Given the description of an element on the screen output the (x, y) to click on. 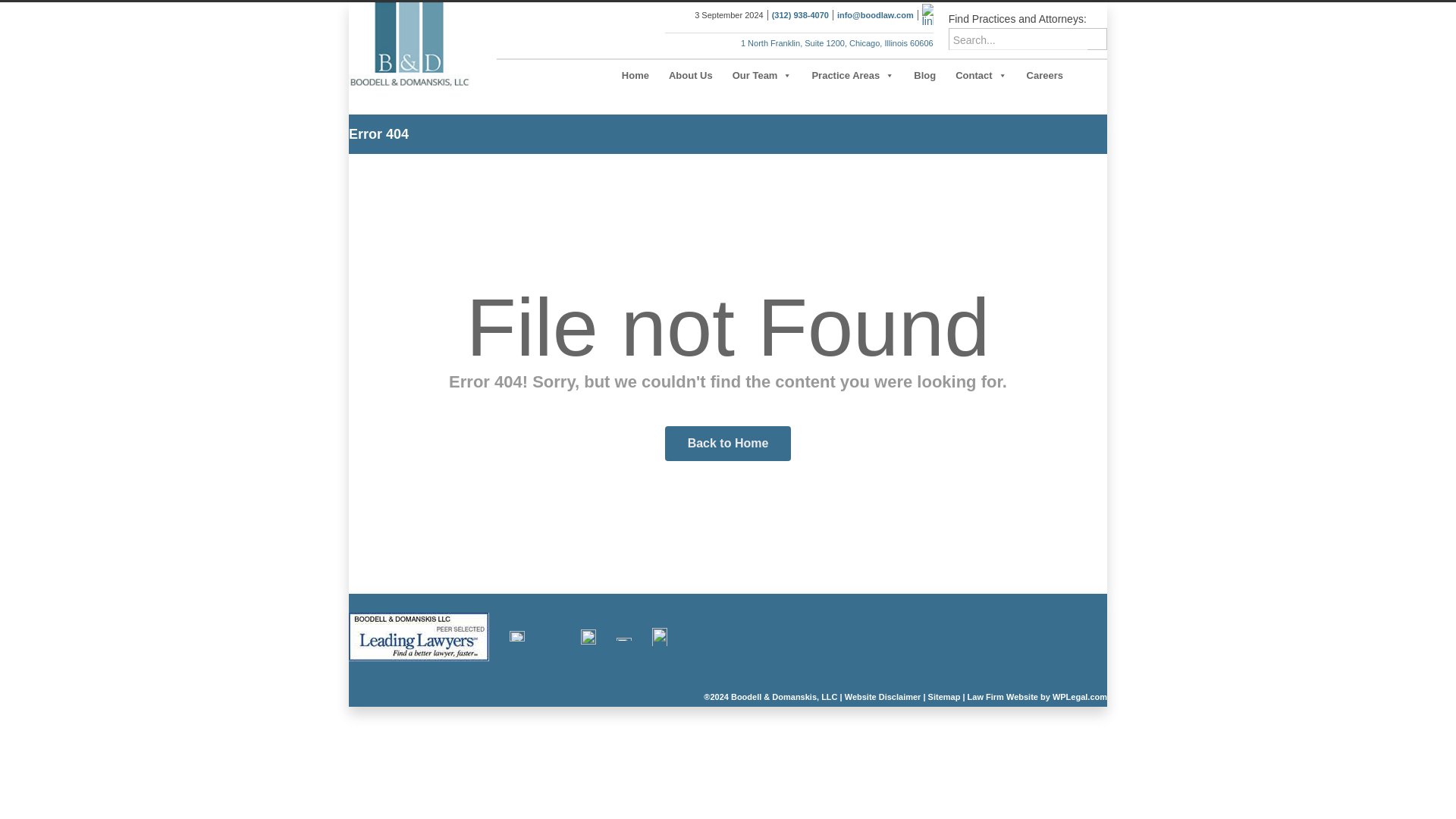
Practice Areas (853, 75)
Our Team (762, 75)
1 North Franklin, Suite 1200, Chicago, Illinois 60606 (837, 42)
About Us (690, 75)
Powered by WordPress Legal Platform (1037, 696)
Home (635, 75)
